Given the description of an element on the screen output the (x, y) to click on. 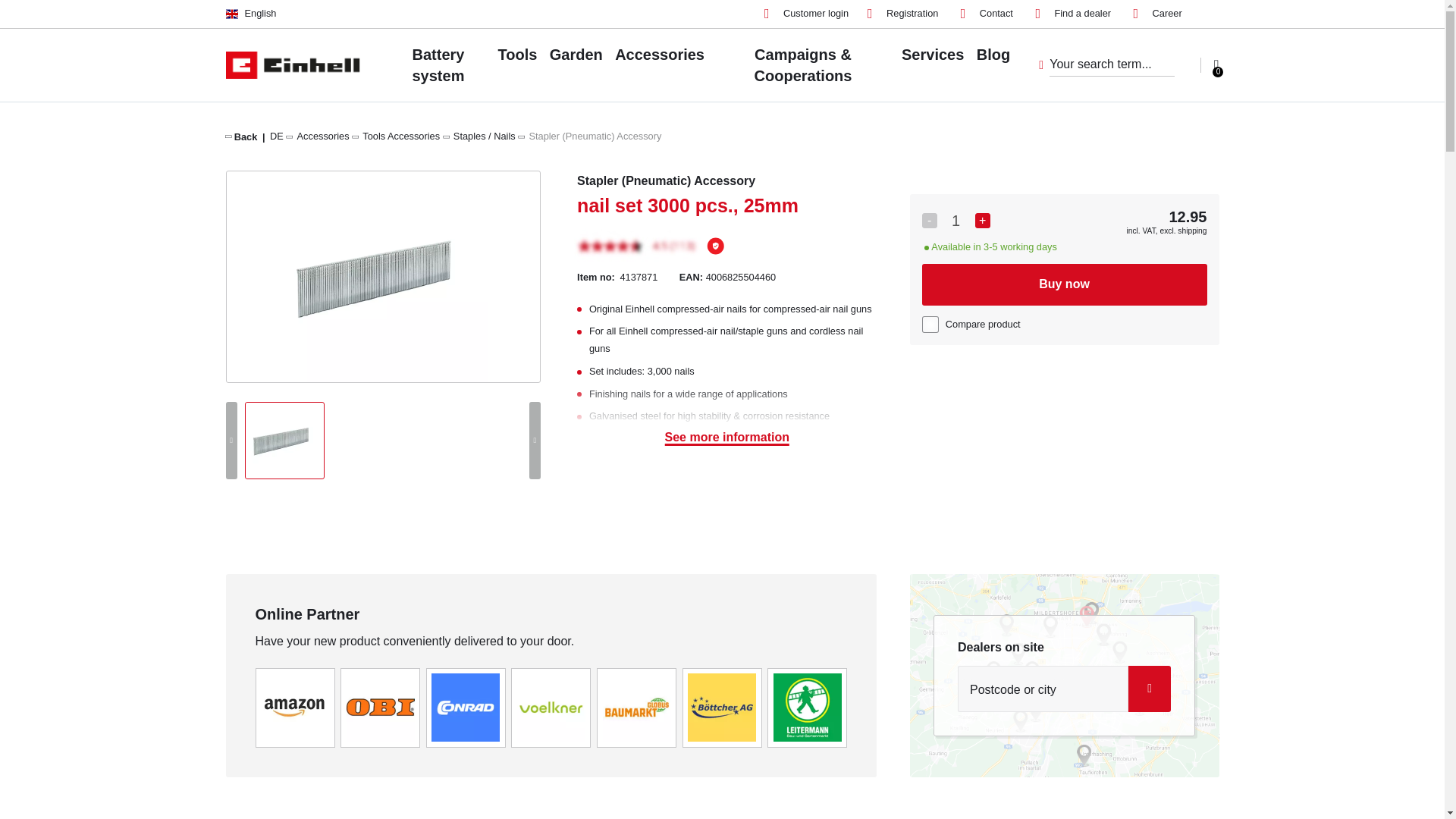
Accessories (323, 135)
leitermann.de (807, 707)
Conrad (464, 707)
Career (1158, 13)
DE (276, 135)
Voelkner (550, 707)
Customer login (806, 13)
Amazon (294, 707)
Battery system (437, 64)
Globus Baumarkt (636, 707)
Obi (380, 707)
Contact (986, 13)
Registration (902, 13)
1 (956, 220)
Tools Accessories (400, 135)
